Given the description of an element on the screen output the (x, y) to click on. 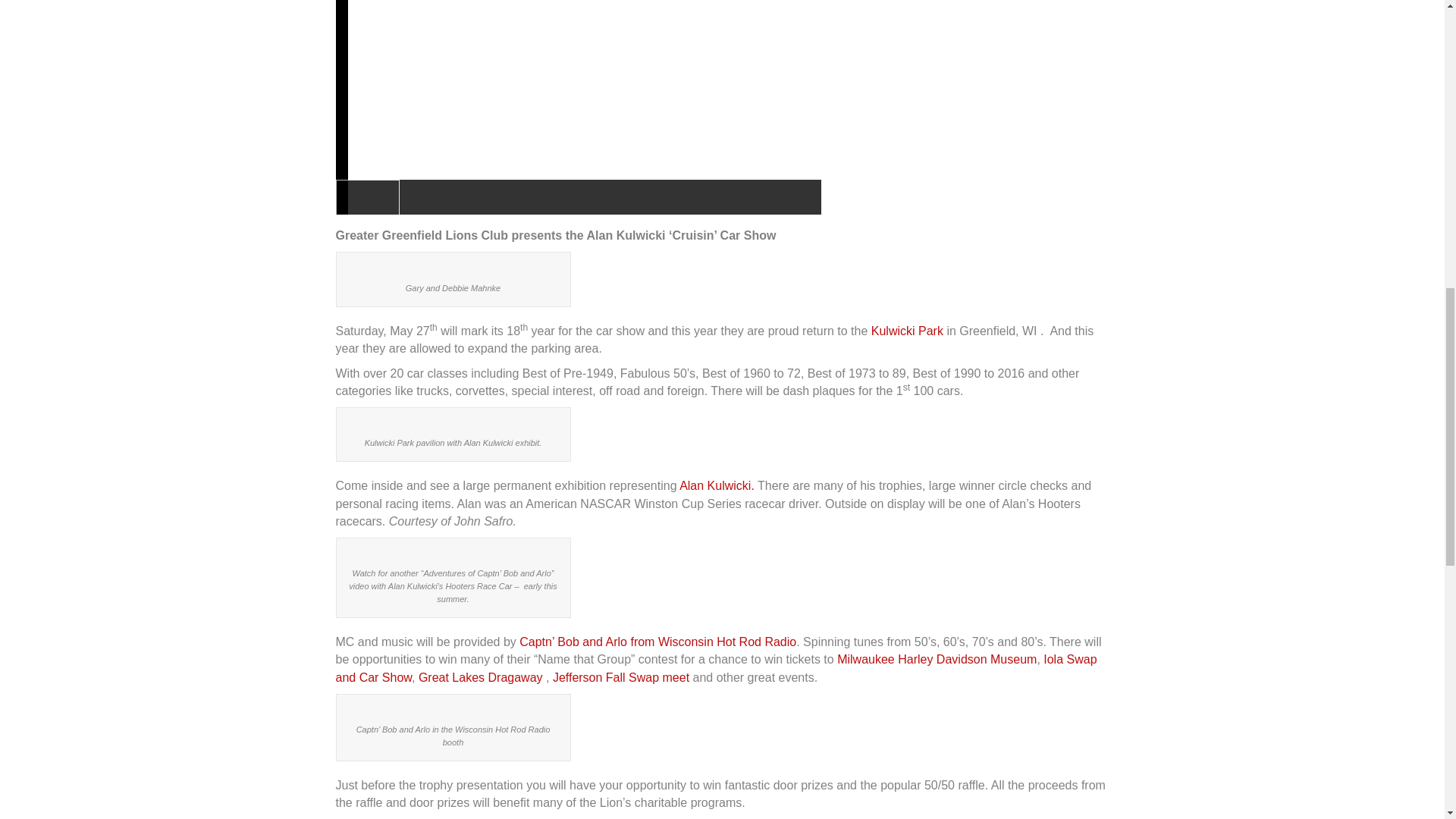
Kulwicki Park (906, 330)
Iola Swap and Car Show (715, 667)
Milwaukee Harley Davidson Museum (936, 658)
Great Lakes Dragaway (482, 676)
Jefferson Fall Swap meet (620, 676)
Alan Kulwicki. (716, 485)
